Given the description of an element on the screen output the (x, y) to click on. 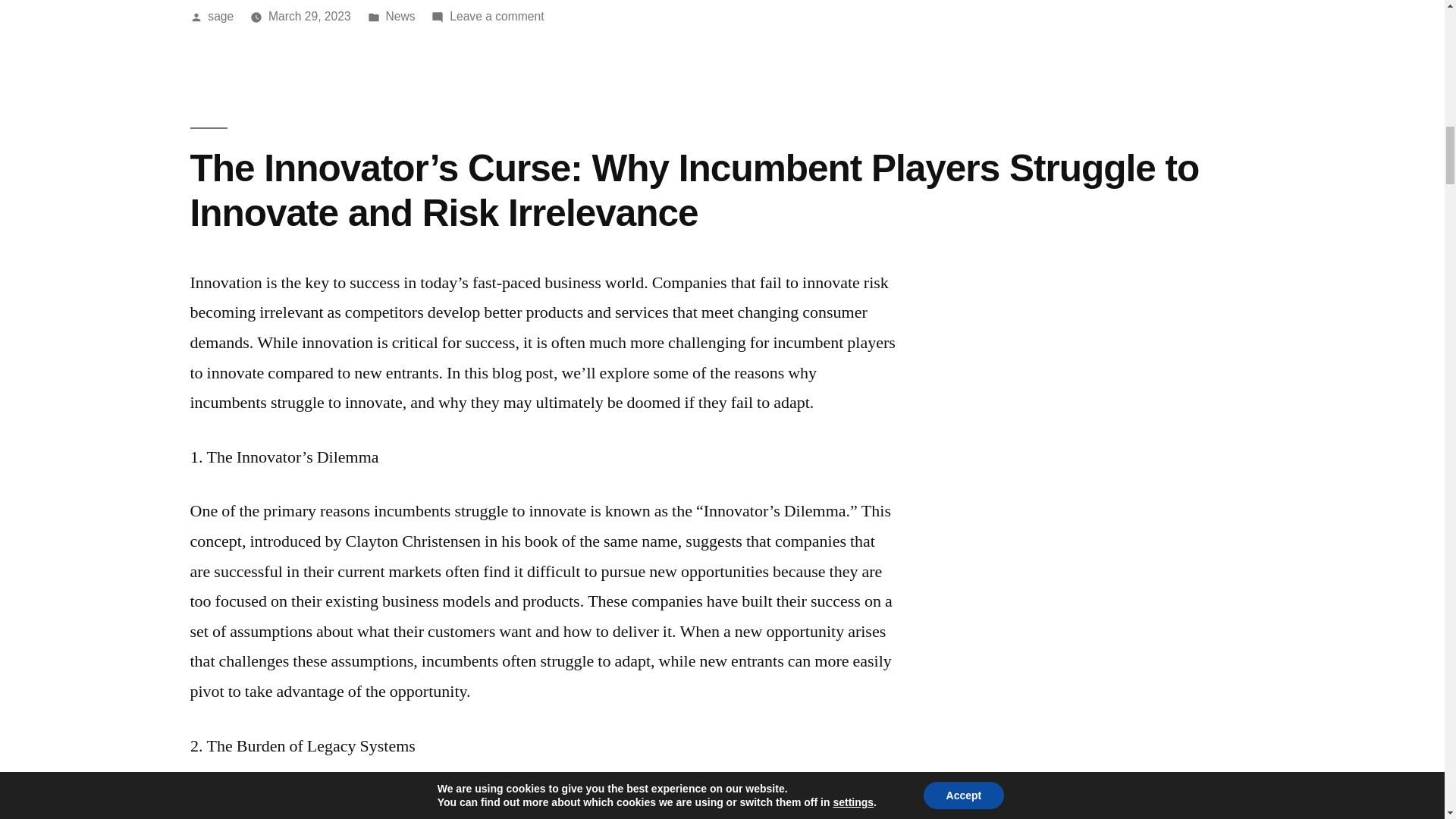
sage (220, 15)
News (399, 15)
March 29, 2023 (308, 15)
